Given the description of an element on the screen output the (x, y) to click on. 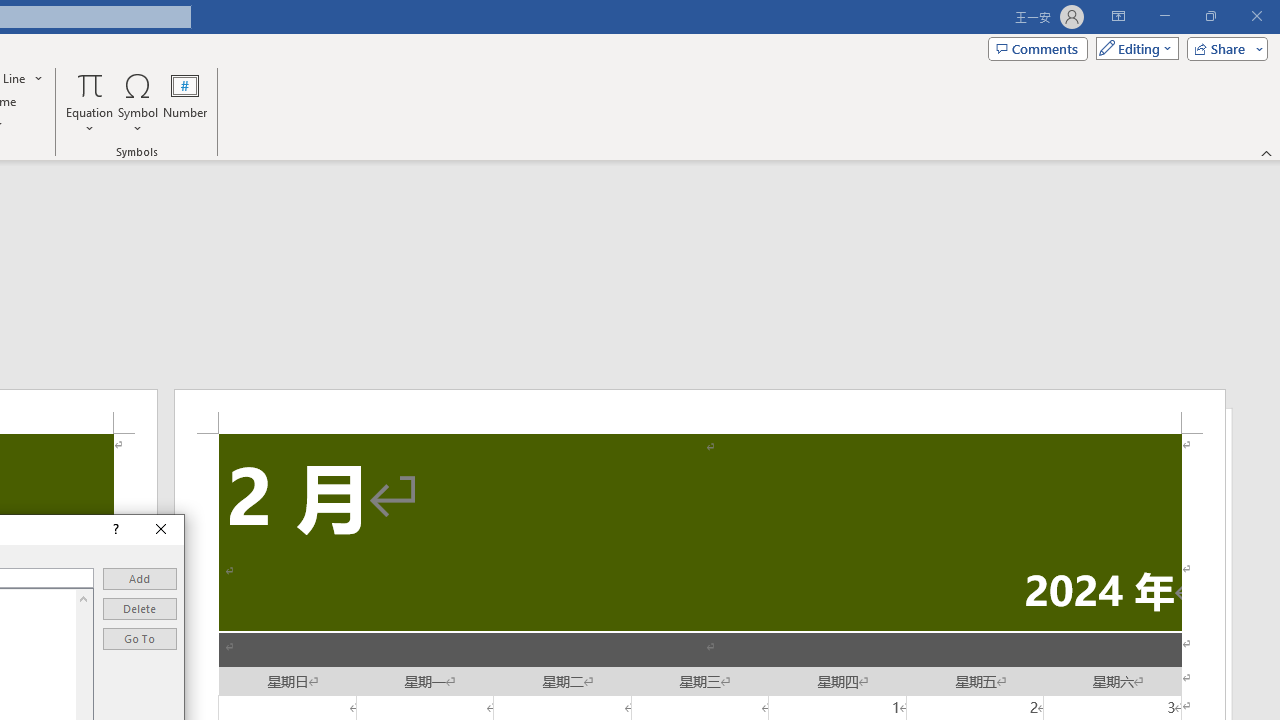
Symbol (138, 102)
Header -Section 2- (700, 411)
Mode (1133, 47)
Equation (90, 84)
Go To (139, 638)
Delete (139, 608)
Line up (83, 597)
Number... (185, 102)
Collapse the Ribbon (1267, 152)
Equation (90, 102)
